Given the description of an element on the screen output the (x, y) to click on. 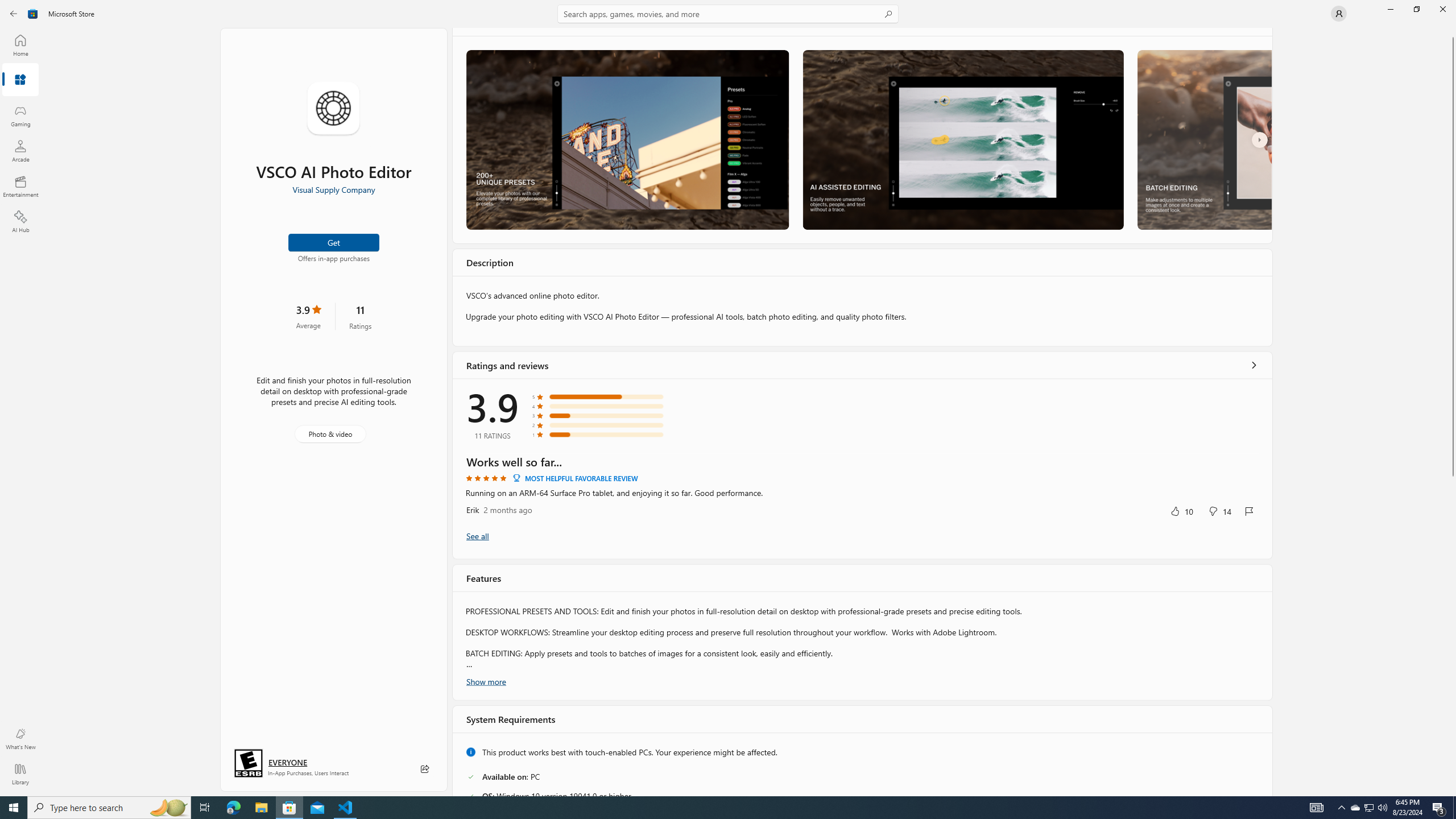
Back (13, 13)
Share (424, 769)
Apps (20, 80)
No, this was not helpful. 14 votes. (1219, 239)
Get (334, 241)
Yes, this was helpful. 10 votes. (1181, 239)
Entertainment (20, 185)
AutomationID: NavigationControl (728, 398)
Report this product for illegal content (546, 791)
3.9 stars. Click to skip to ratings and reviews (307, 315)
Close Microsoft Store (1442, 9)
Class: Image (32, 13)
Show all ratings and reviews (1253, 113)
Vertical Small Increase (1452, 792)
